Given the description of an element on the screen output the (x, y) to click on. 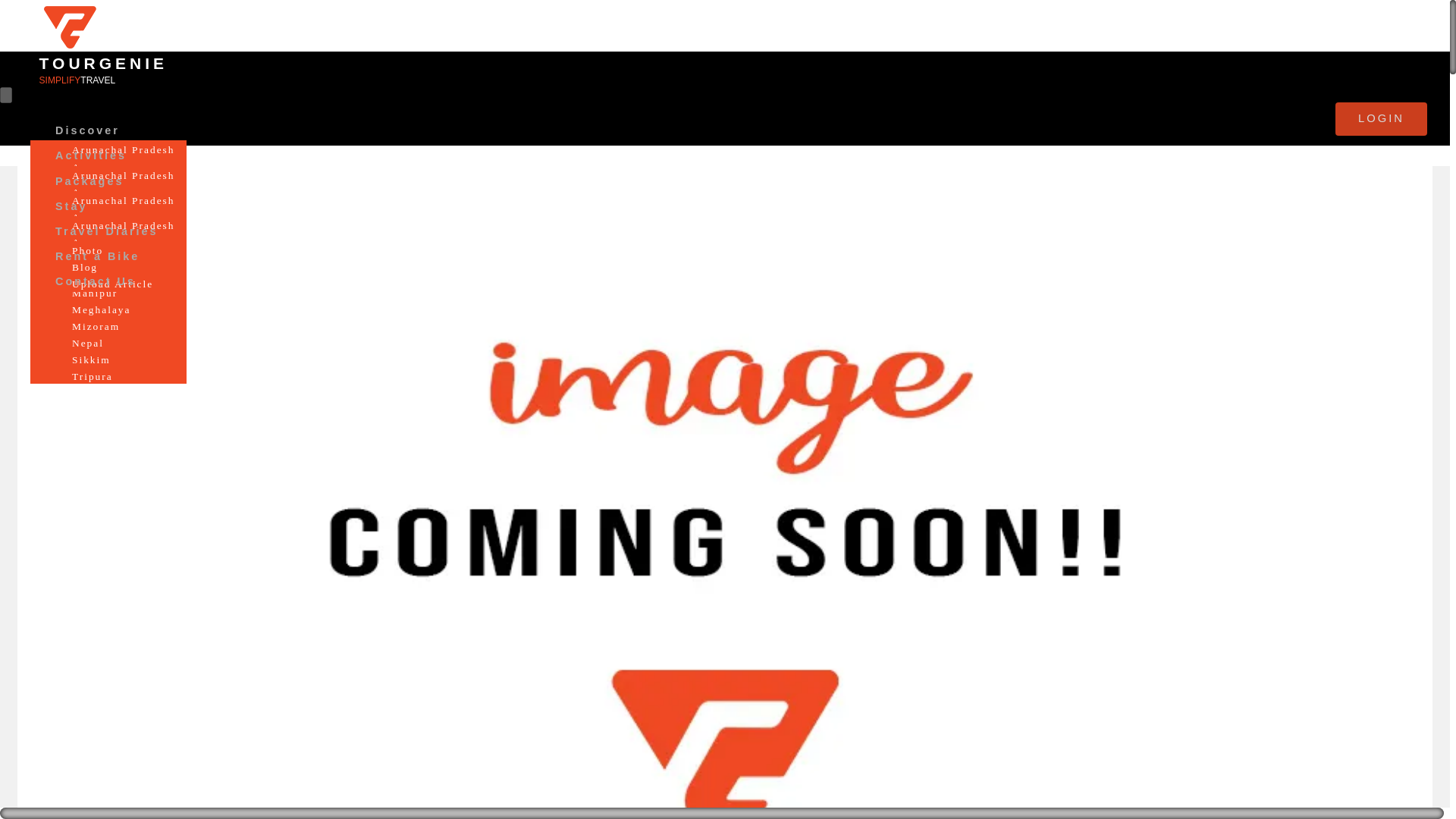
Nagaland (97, 292)
Manipur (95, 216)
Bhutan (91, 183)
Meghalaya (101, 283)
Darjeeling (101, 200)
Arunachal Pradesh (123, 149)
Arunachal Pradesh (123, 200)
Nepal (88, 309)
Nagaland (97, 266)
Darjeeling (101, 225)
Assam (89, 192)
Stay (71, 207)
Sikkim (91, 301)
Meghalaya (101, 233)
Discover (87, 132)
